Given the description of an element on the screen output the (x, y) to click on. 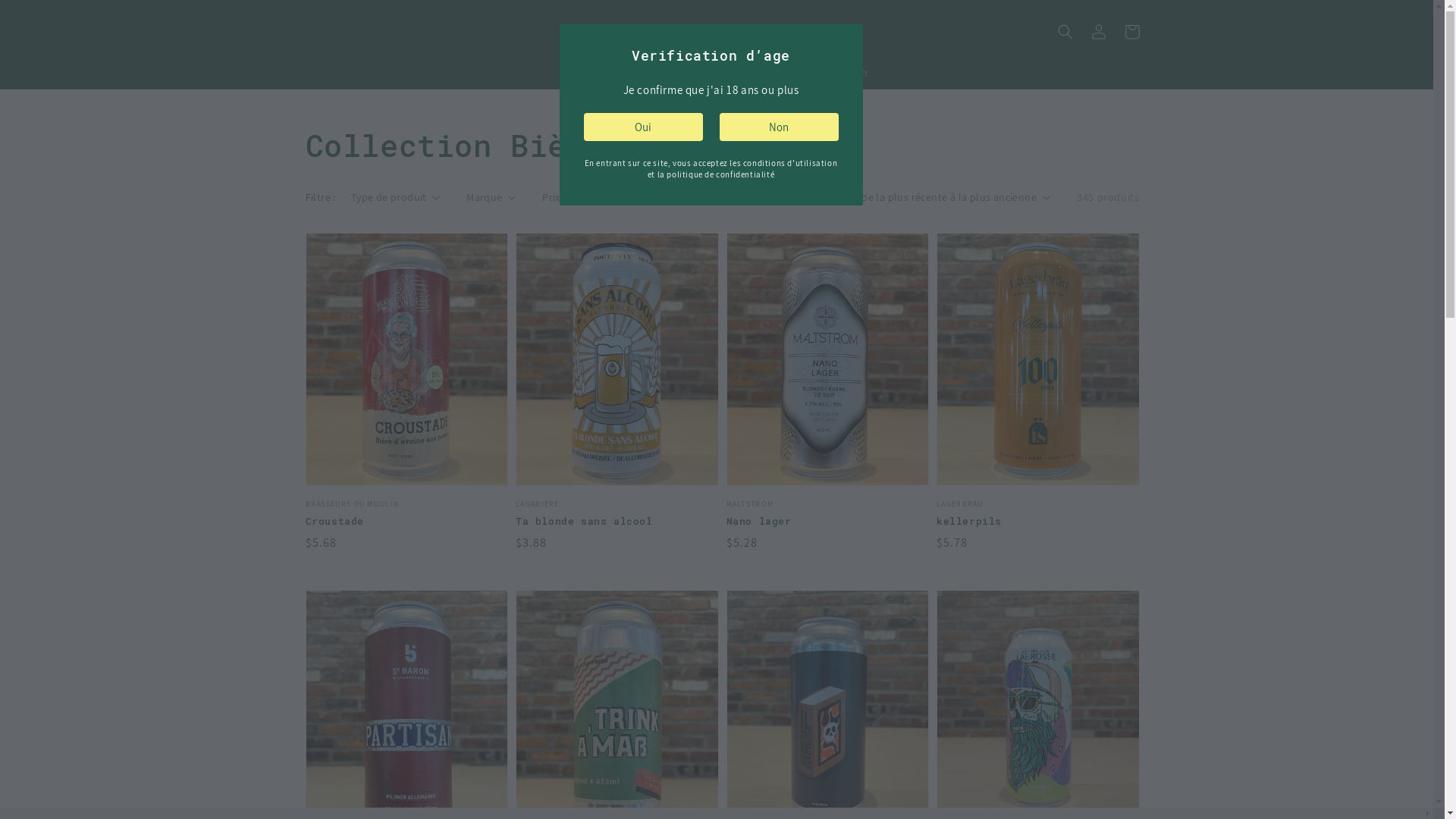
Oui Element type: text (642, 126)
Connexion Element type: text (1097, 31)
Merch Element type: text (852, 71)
Vins, cidres et seltzers Element type: text (685, 71)
Non Element type: text (777, 126)
Panier Element type: text (1131, 31)
